Given the description of an element on the screen output the (x, y) to click on. 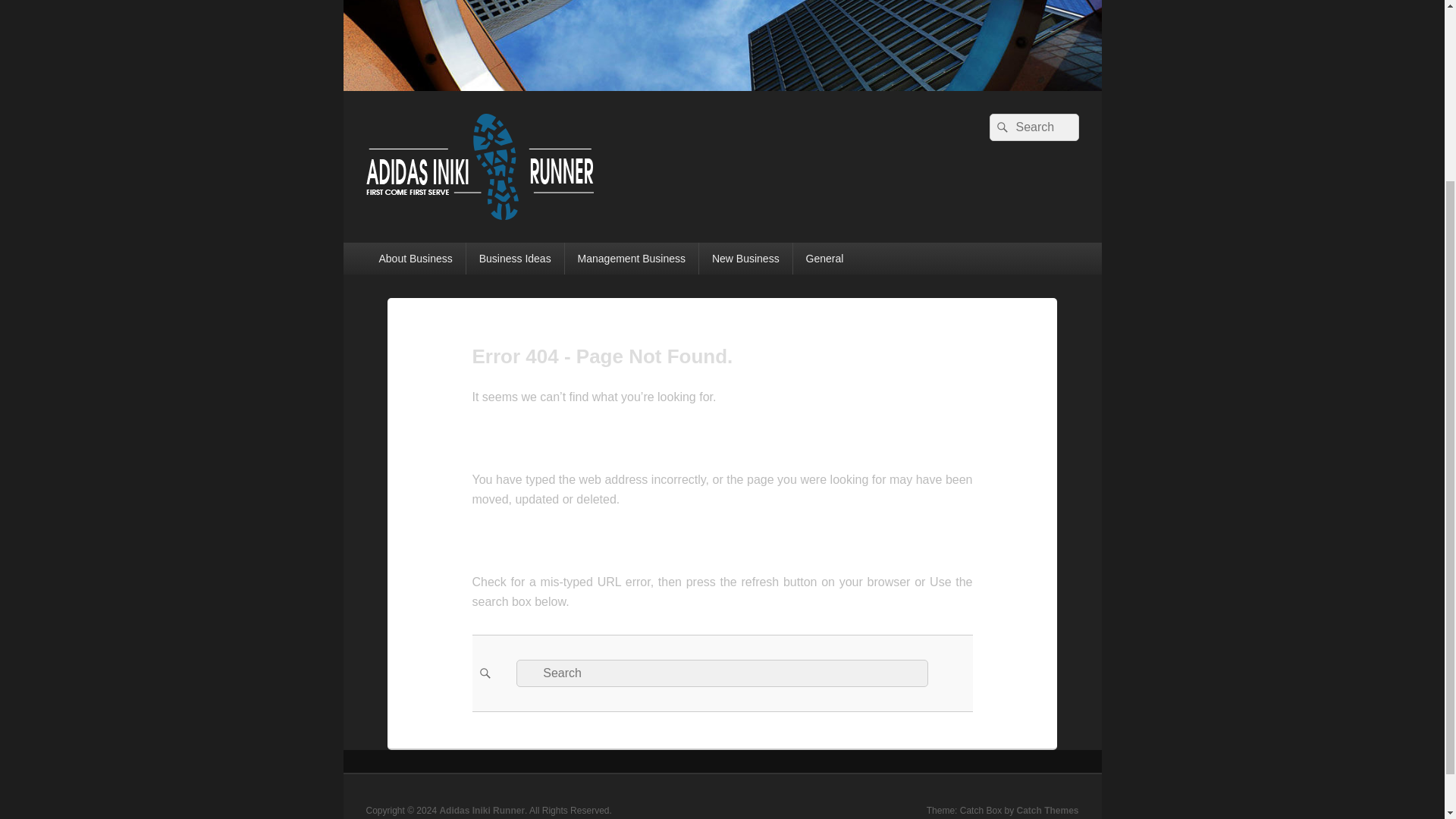
General (825, 258)
Adidas Iniki Runner (481, 810)
Catch Themes (1047, 810)
Catch Themes (1047, 810)
New Business (745, 258)
About Business (414, 258)
Adidas Iniki Runner (481, 810)
Search for: (1033, 126)
Business Ideas (514, 258)
Adidas Iniki Runner (721, 86)
